Given the description of an element on the screen output the (x, y) to click on. 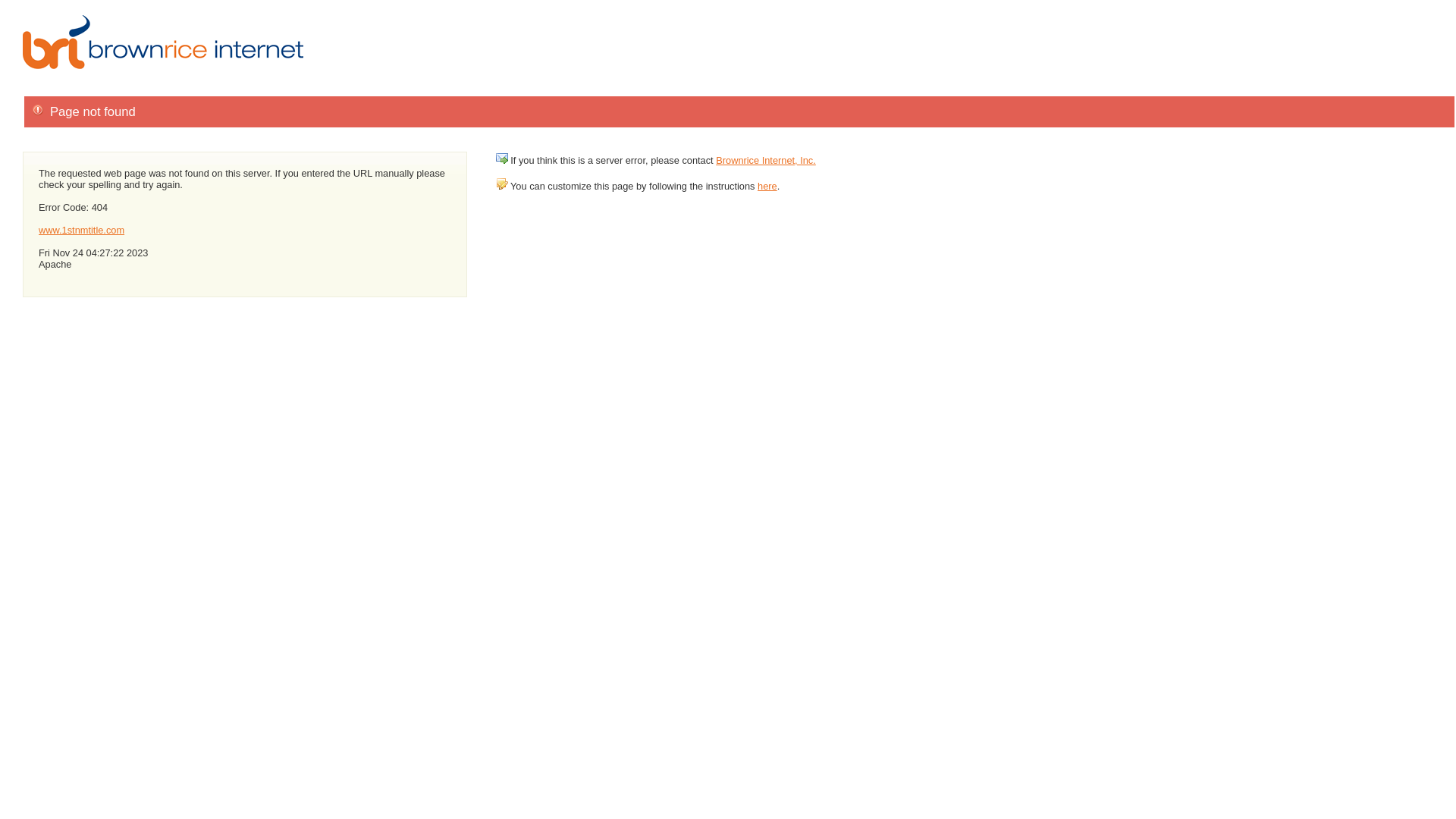
Brownrice Internet, Inc. Element type: text (765, 160)
here Element type: text (767, 185)
www.1stnmtitle.com Element type: text (81, 229)
